Given the description of an element on the screen output the (x, y) to click on. 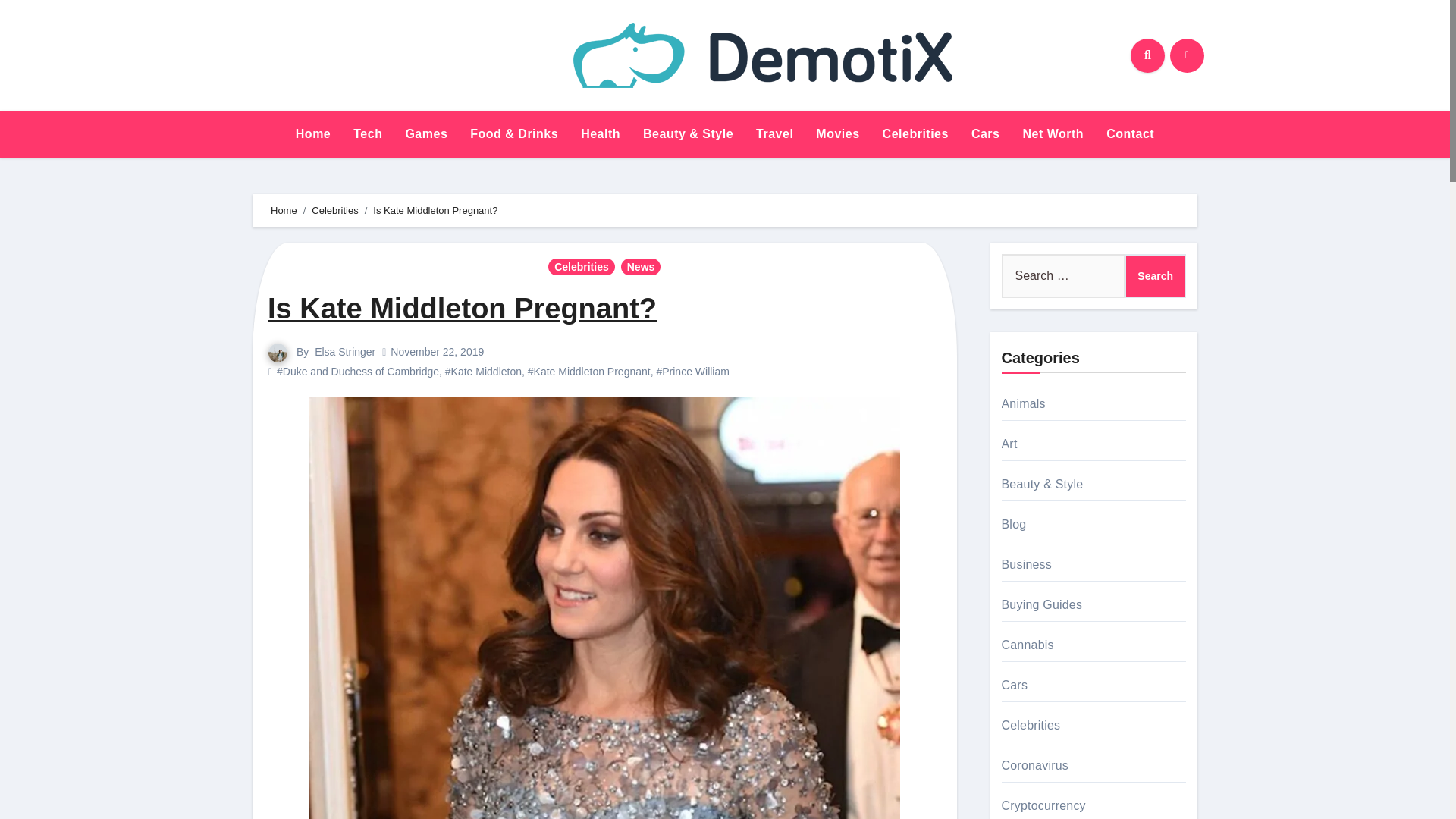
Contact (1130, 133)
Cars (985, 133)
November 22, 2019 (436, 351)
Contact (1130, 133)
Celebrities (334, 210)
Home (312, 133)
Celebrities (914, 133)
Celebrities (914, 133)
Tech (367, 133)
Games (425, 133)
